Given the description of an element on the screen output the (x, y) to click on. 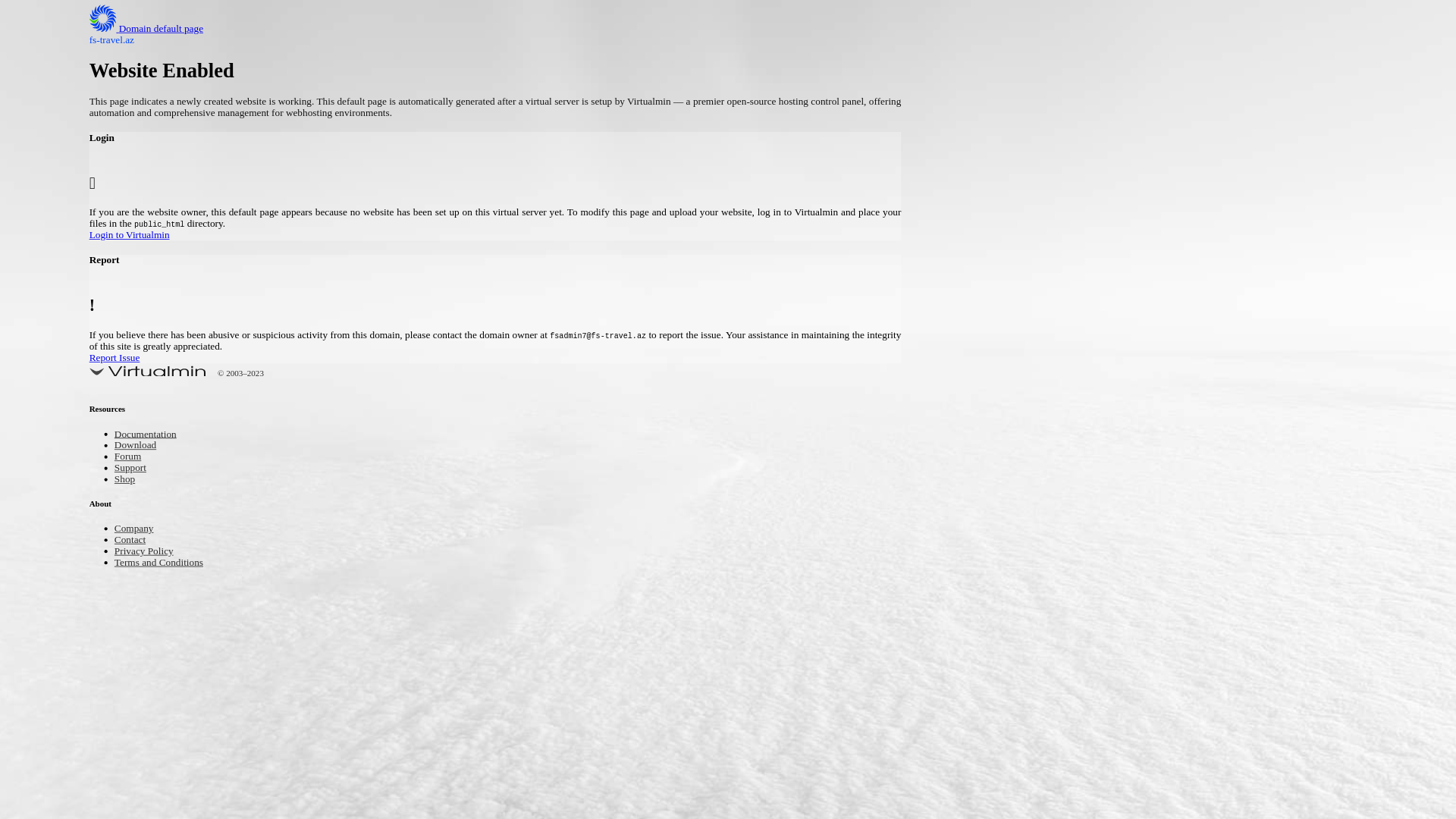
Contact Element type: text (133, 539)
Support Element type: text (133, 468)
Terms and Conditions Element type: text (167, 562)
Shop Element type: text (126, 479)
Company Element type: text (137, 529)
Login to Virtualmin Element type: text (578, 236)
Privacy Policy Element type: text (149, 551)
Documentation Element type: text (151, 434)
Download Element type: text (139, 445)
Report Issue Element type: text (578, 358)
Domain default page Element type: text (157, 28)
Forum Element type: text (130, 457)
